Given the description of an element on the screen output the (x, y) to click on. 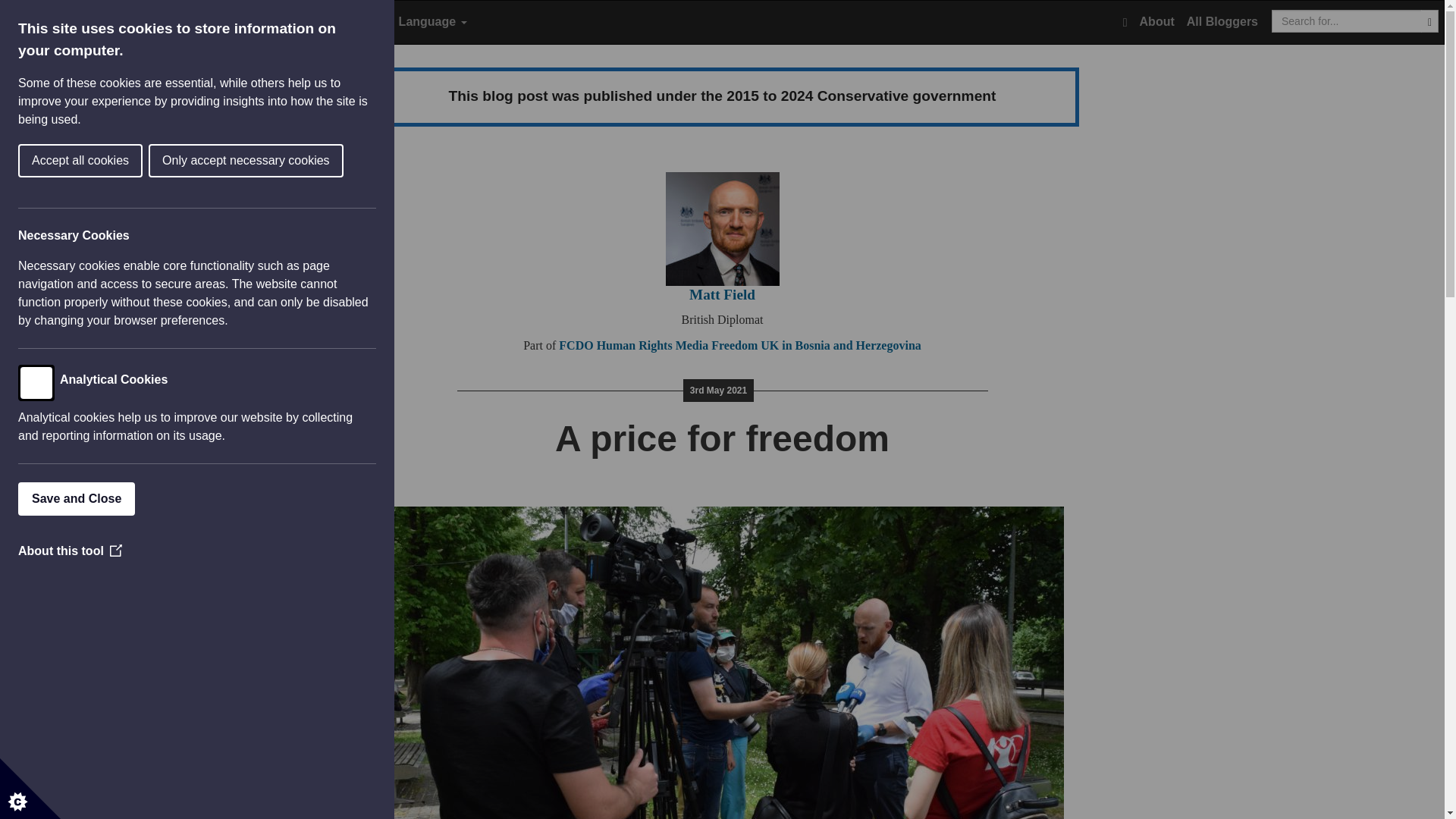
About (1157, 21)
All Bloggers (1221, 21)
View all posts in UK in Bosnia and Herzegovina (840, 345)
FCDO Human Rights (615, 345)
View all posts in Media Freedom (716, 345)
About (1157, 21)
View all posts in FCDO Human Rights (615, 345)
Media Freedom (716, 345)
All Bloggers (1221, 21)
Language (433, 21)
